Given the description of an element on the screen output the (x, y) to click on. 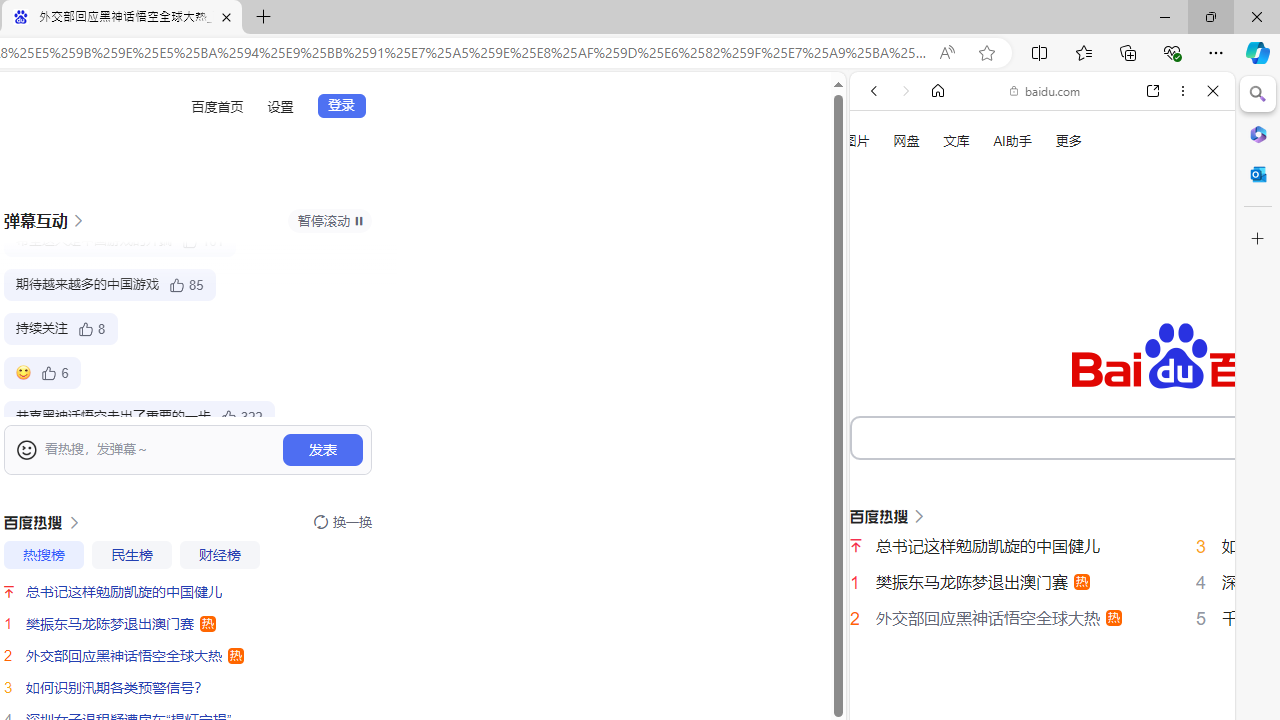
baidu.com (1045, 90)
Search (1258, 94)
Search Filter, Search Tools (1093, 339)
Collections (1128, 52)
Open link in new tab (1153, 91)
Search the web (1051, 137)
